Given the description of an element on the screen output the (x, y) to click on. 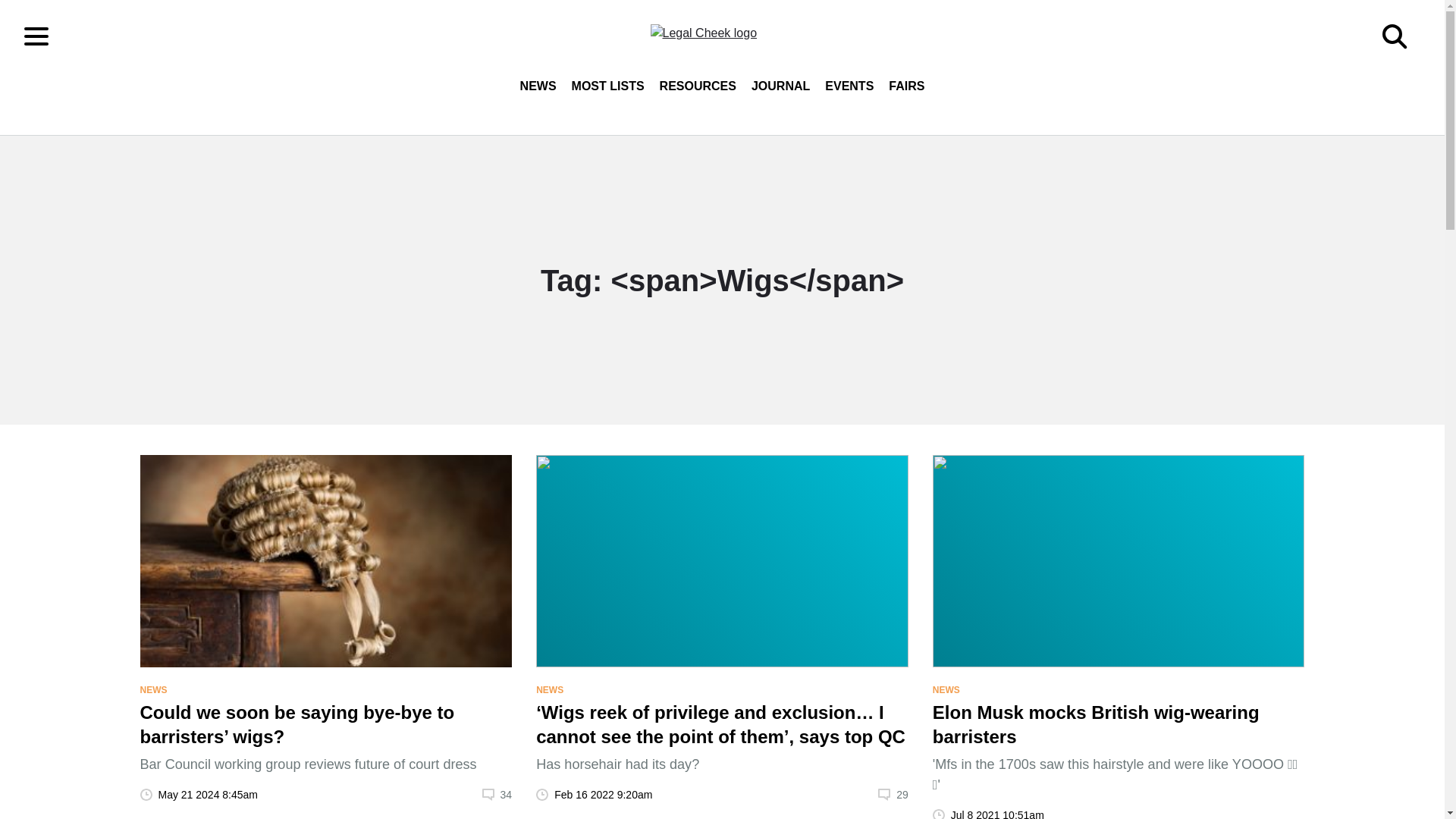
FAIRS (905, 86)
RESOURCES (698, 86)
MOST LISTS (608, 86)
EVENTS (848, 86)
NEWS (153, 689)
NEWS (549, 689)
NEWS (946, 689)
NEWS (538, 86)
Elon Musk mocks British wig-wearing barristers (1118, 724)
JOURNAL (780, 86)
